Given the description of an element on the screen output the (x, y) to click on. 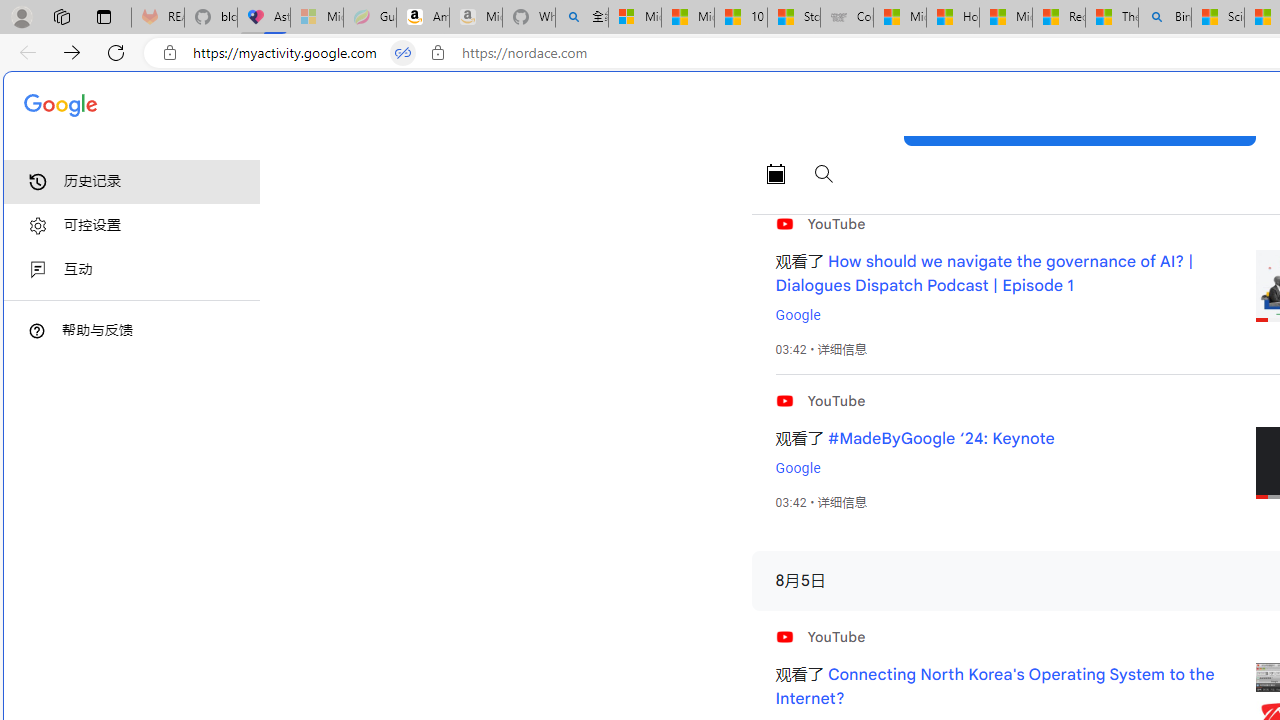
Microsoft-Report a Concern to Bing - Sleeping (316, 17)
Combat Siege (846, 17)
How I Got Rid of Microsoft Edge's Unnecessary Features (952, 17)
Forward (72, 52)
Stocks - MSN (794, 17)
